Given the description of an element on the screen output the (x, y) to click on. 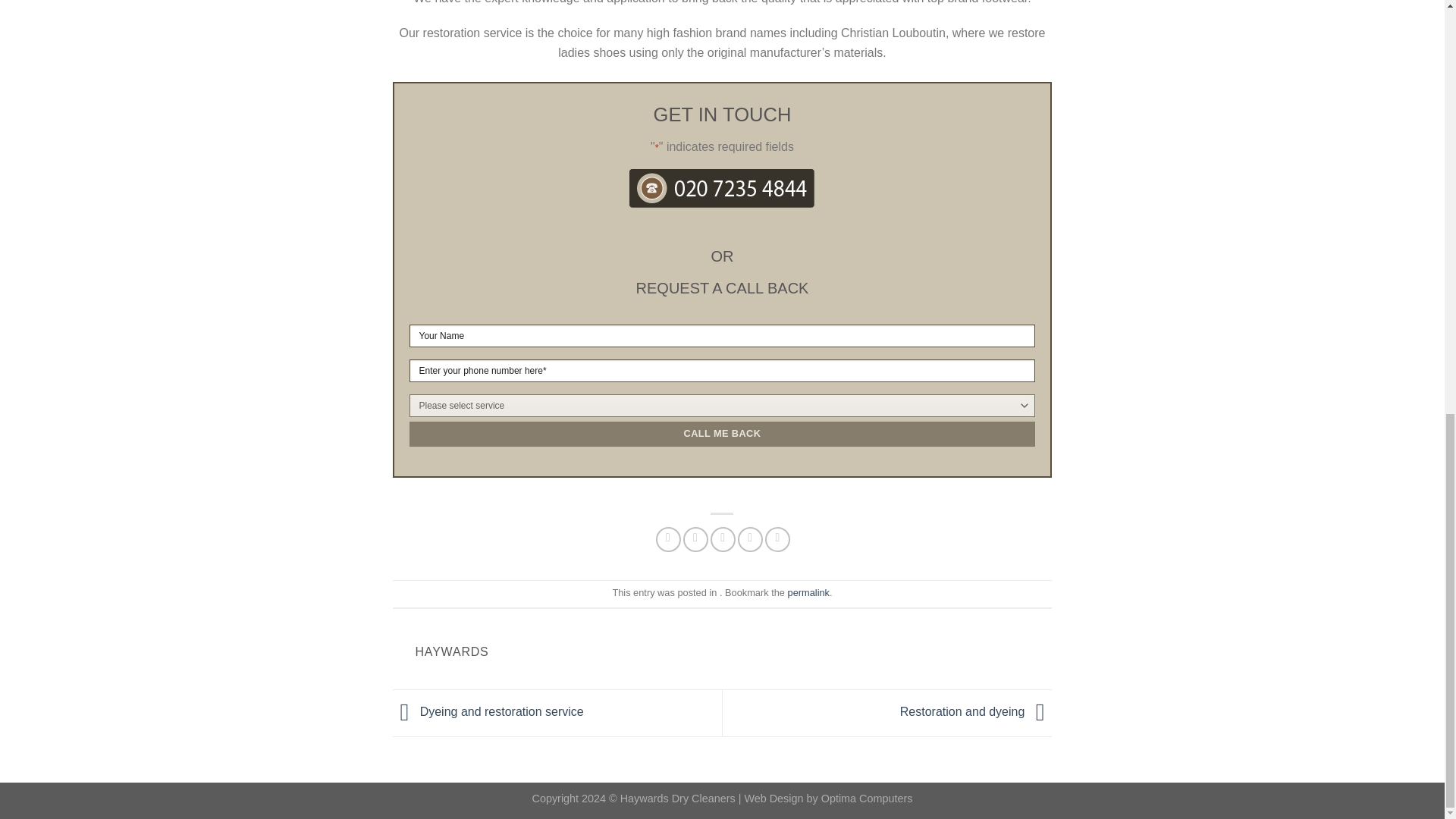
Share on LinkedIn (777, 539)
Dyeing and restoration service (488, 711)
Call me back (722, 433)
Restoration and dyeing (975, 711)
permalink (808, 592)
Optima Computers (866, 797)
Share on Twitter (694, 539)
Email to a Friend (722, 539)
Permalink to Shoe repair service (808, 592)
Call me back (722, 433)
